Given the description of an element on the screen output the (x, y) to click on. 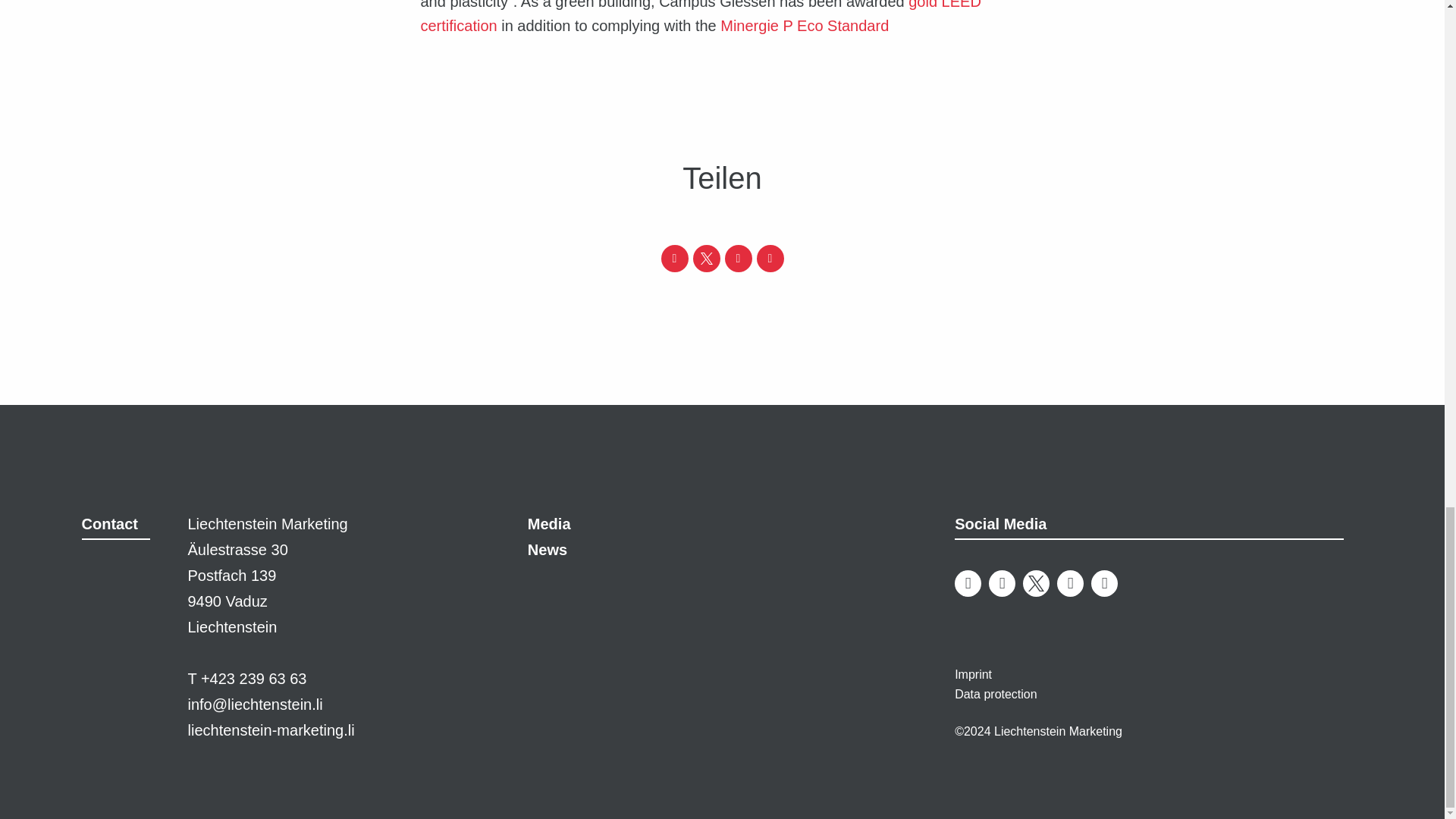
Imprint (973, 674)
liechtenstein-marketing.li (271, 729)
News (547, 549)
Minergie P Eco Standard (804, 25)
Data protection (995, 694)
gold LEED certification (699, 17)
Media (548, 523)
